Given the description of an element on the screen output the (x, y) to click on. 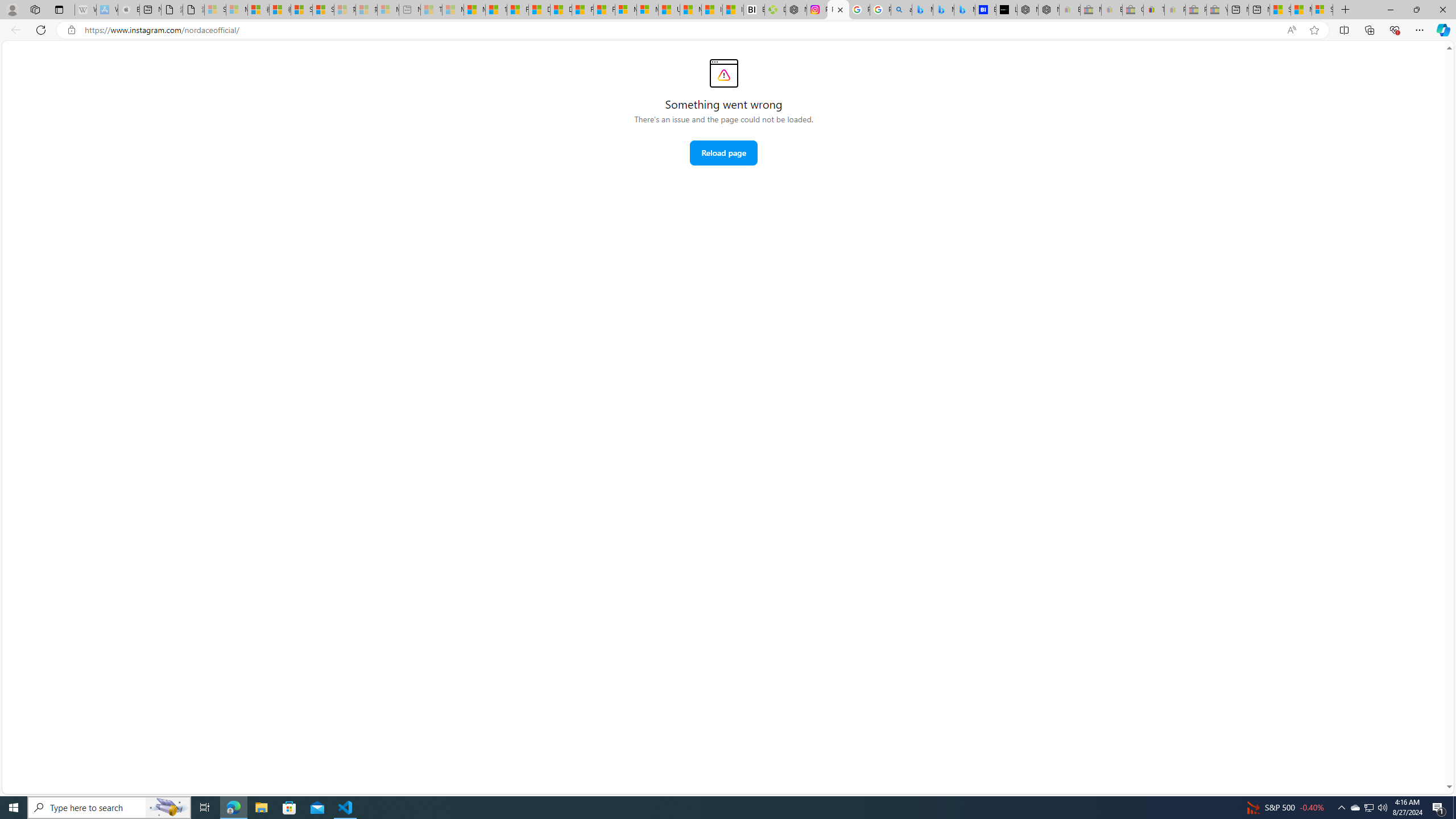
alabama high school quarterback dies - Search (901, 9)
Food and Drink - MSN (517, 9)
Nordace - Nordace Edin Collection (795, 9)
Shanghai, China hourly forecast | Microsoft Weather (1280, 9)
Sign in to your Microsoft account (1322, 9)
